Given the description of an element on the screen output the (x, y) to click on. 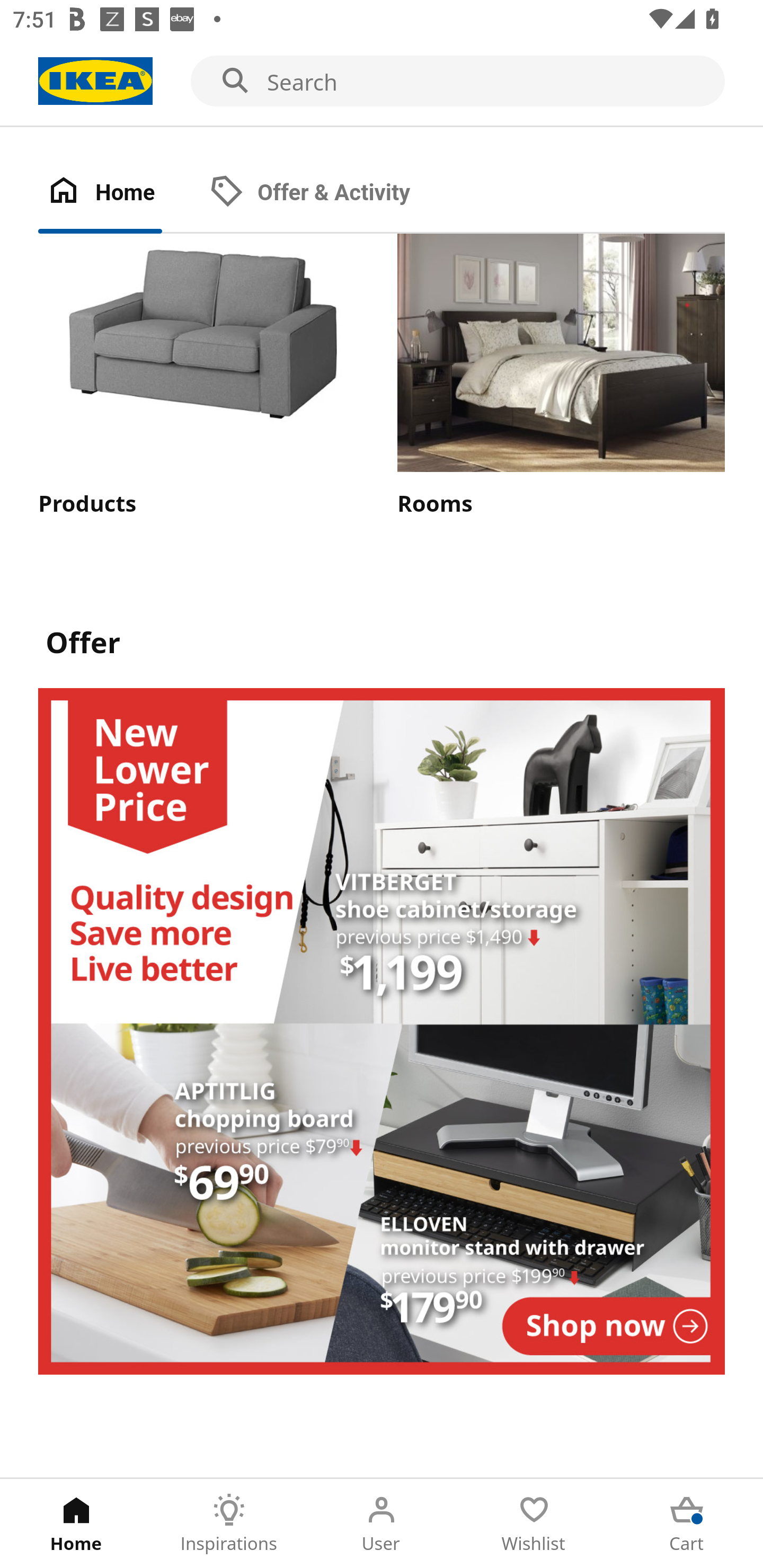
Search (381, 81)
Home
Tab 1 of 2 (118, 192)
Offer & Activity
Tab 2 of 2 (327, 192)
Products (201, 376)
Rooms (560, 376)
Home
Tab 1 of 5 (76, 1522)
Inspirations
Tab 2 of 5 (228, 1522)
User
Tab 3 of 5 (381, 1522)
Wishlist
Tab 4 of 5 (533, 1522)
Cart
Tab 5 of 5 (686, 1522)
